Given the description of an element on the screen output the (x, y) to click on. 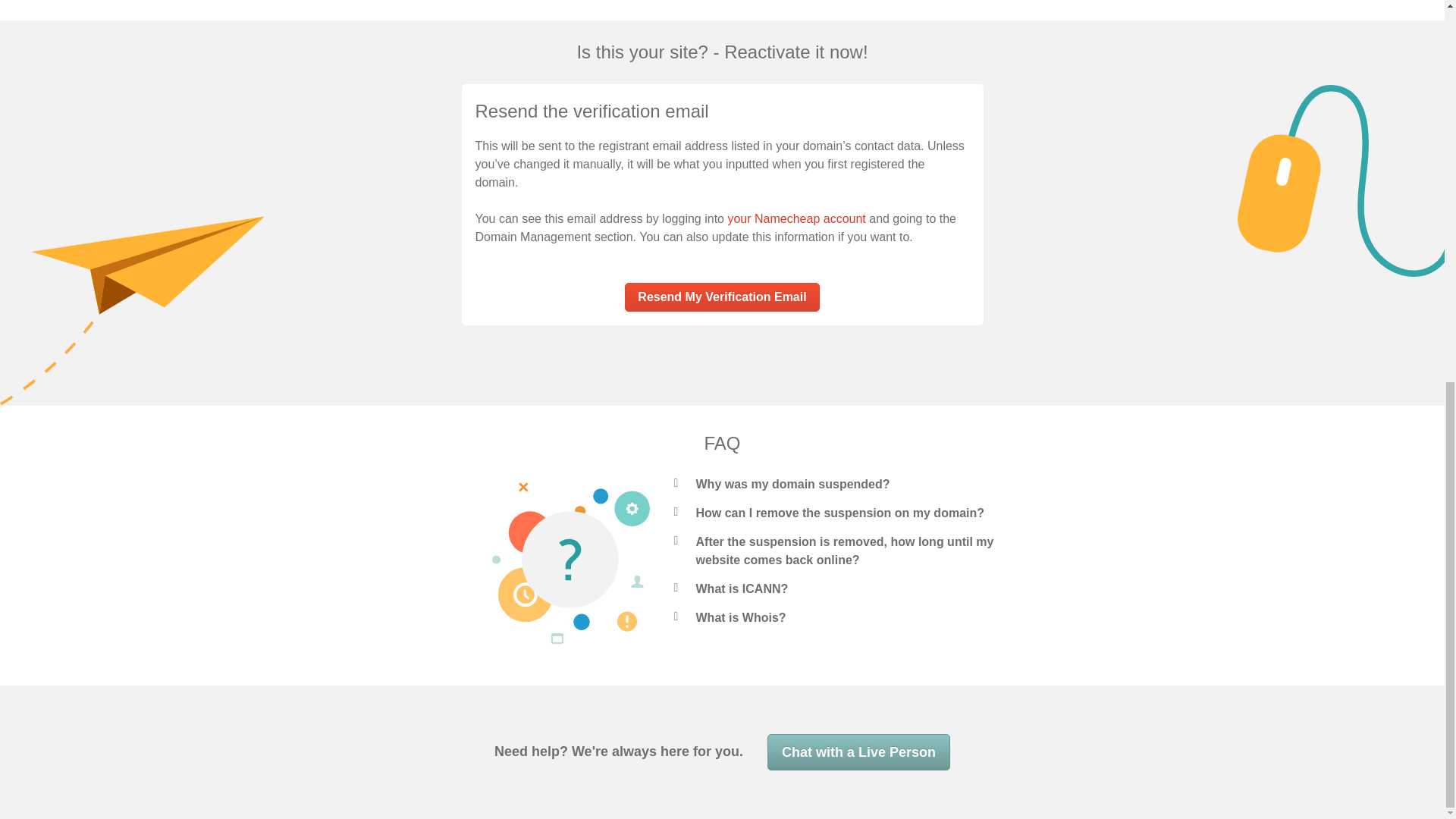
your Namecheap account (795, 218)
Chat with a Live Person (858, 751)
Resend My Verification Email (721, 297)
